Given the description of an element on the screen output the (x, y) to click on. 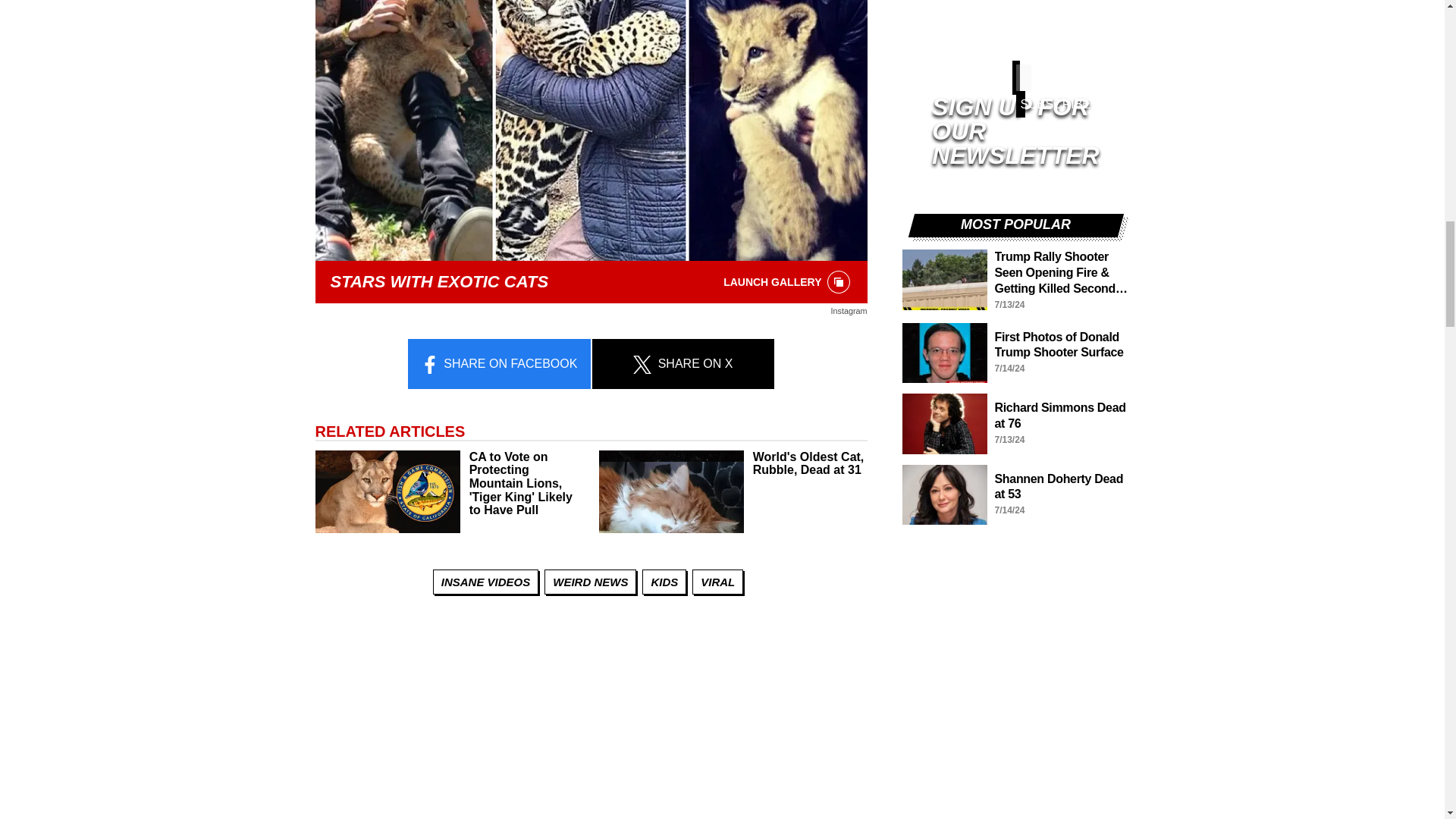
GALLERY (838, 281)
